Given the description of an element on the screen output the (x, y) to click on. 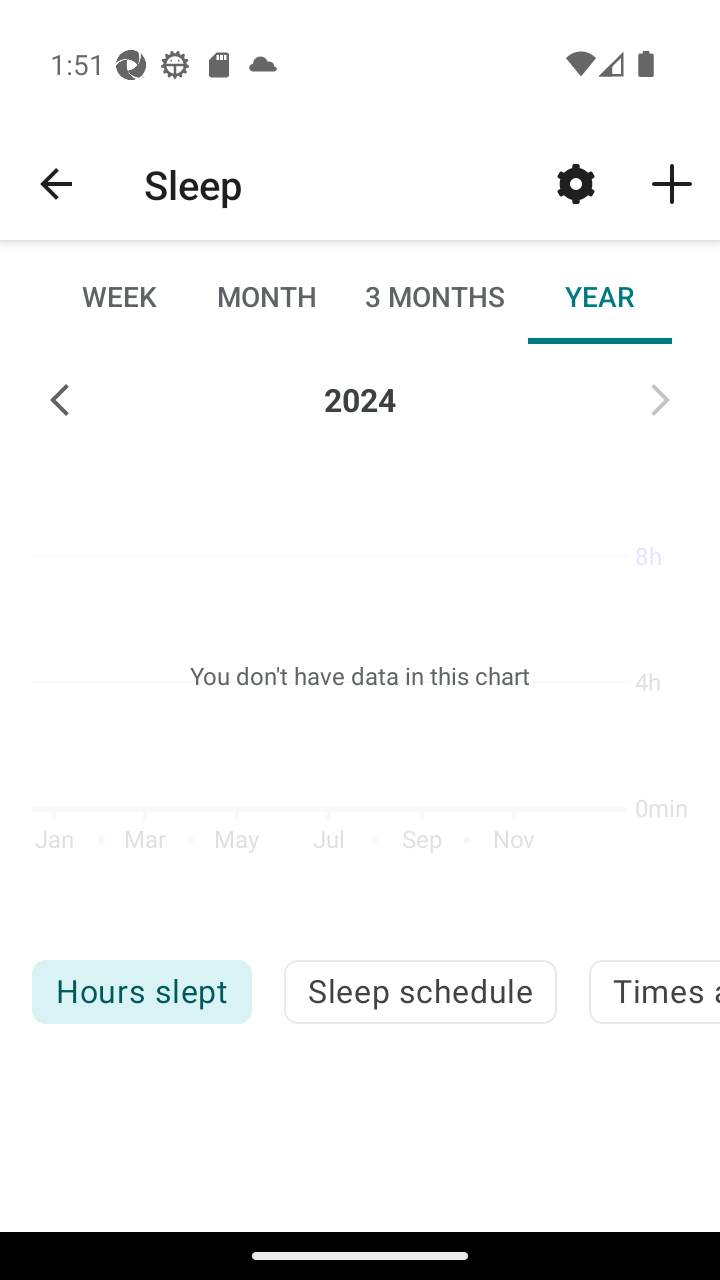
Navigate up (56, 184)
Adjust your goal (575, 183)
Tap to track sleep or
 log a past record (672, 183)
WEEK (120, 296)
MONTH (265, 296)
3 MONTHS (433, 296)
Previous (60, 399)
Next (659, 399)
Hours slept (141, 991)
Sleep schedule (420, 991)
Times awakened (654, 991)
